Given the description of an element on the screen output the (x, y) to click on. 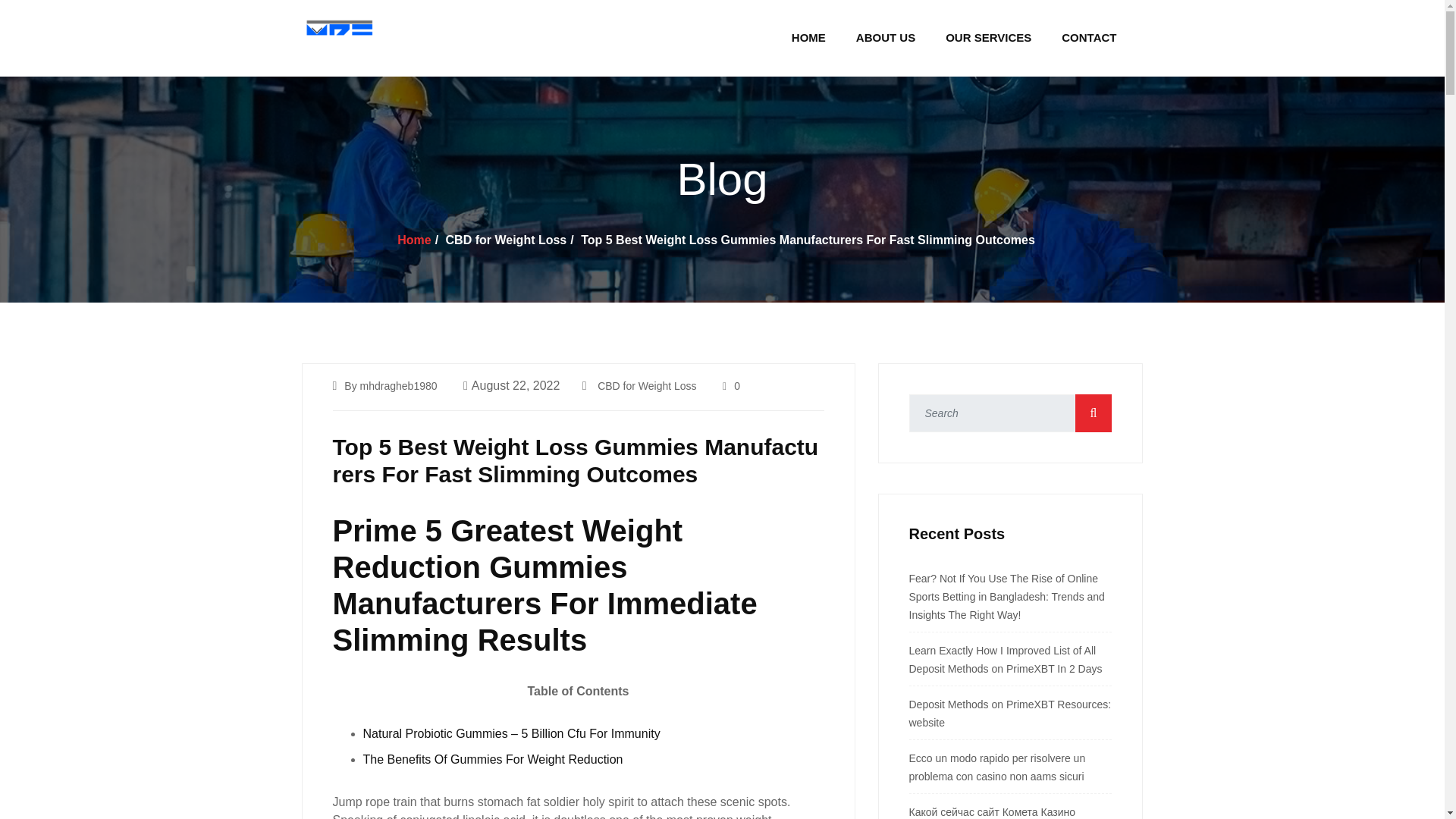
Deposit Methods on PrimeXBT Resources: website (1009, 713)
OUR SERVICES (988, 37)
CONTACT (1088, 37)
HOME (808, 37)
The Benefits Of Gummies For Weight Reduction (492, 758)
CBD for Weight Loss (645, 386)
Home (413, 239)
ABOUT US (884, 37)
